Given the description of an element on the screen output the (x, y) to click on. 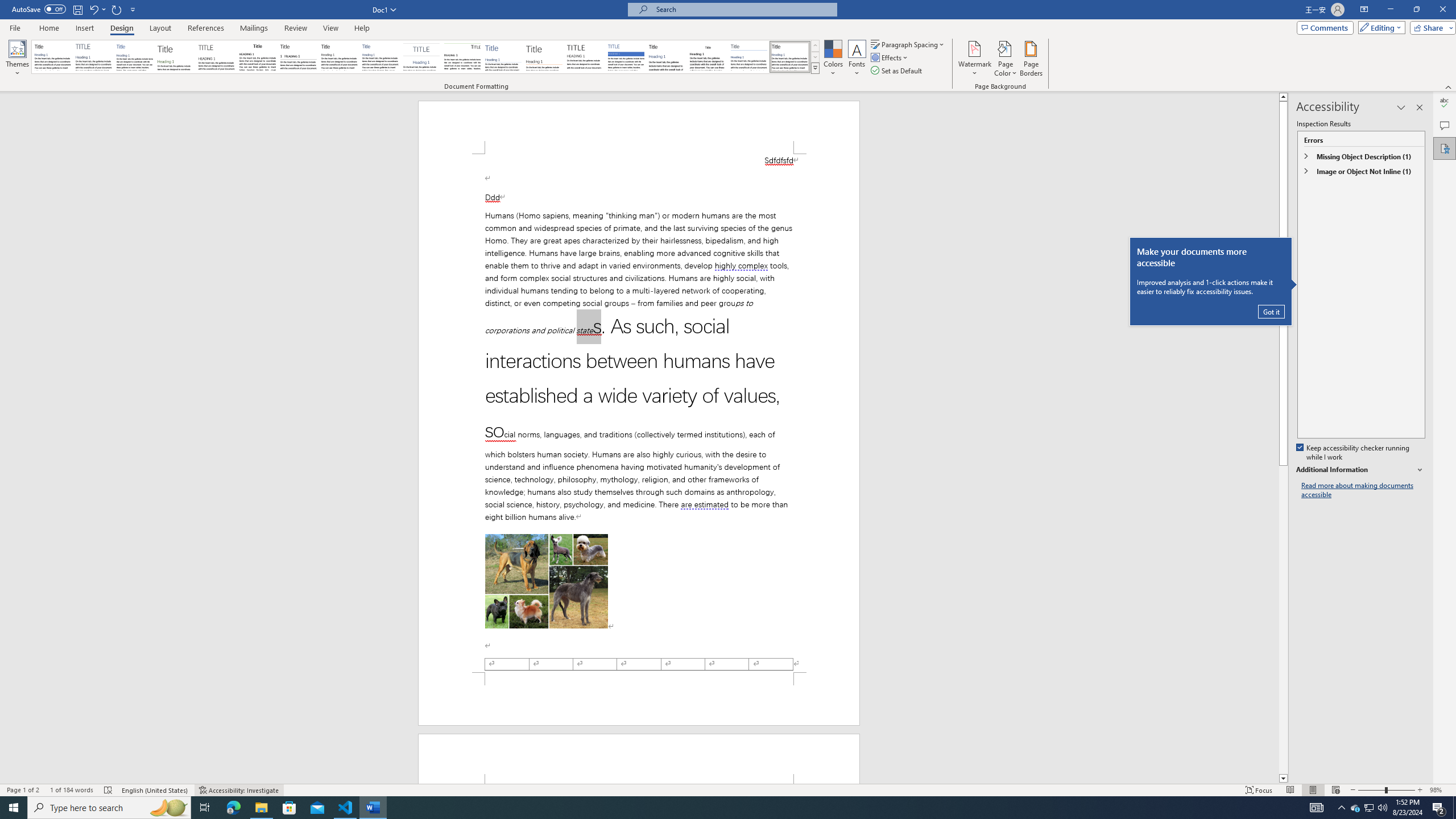
Class: MsoCommandBar (728, 789)
Document (52, 56)
Lines (Simple) (503, 56)
Page Number Page 1 of 2 (22, 790)
Footer -Section 1- (638, 698)
Set as Default (897, 69)
Language English (United States) (154, 790)
File Tab (15, 27)
Customize Quick Access Toolbar (133, 9)
Task Pane Options (1400, 107)
Basic (Stylish) (175, 56)
